Given the description of an element on the screen output the (x, y) to click on. 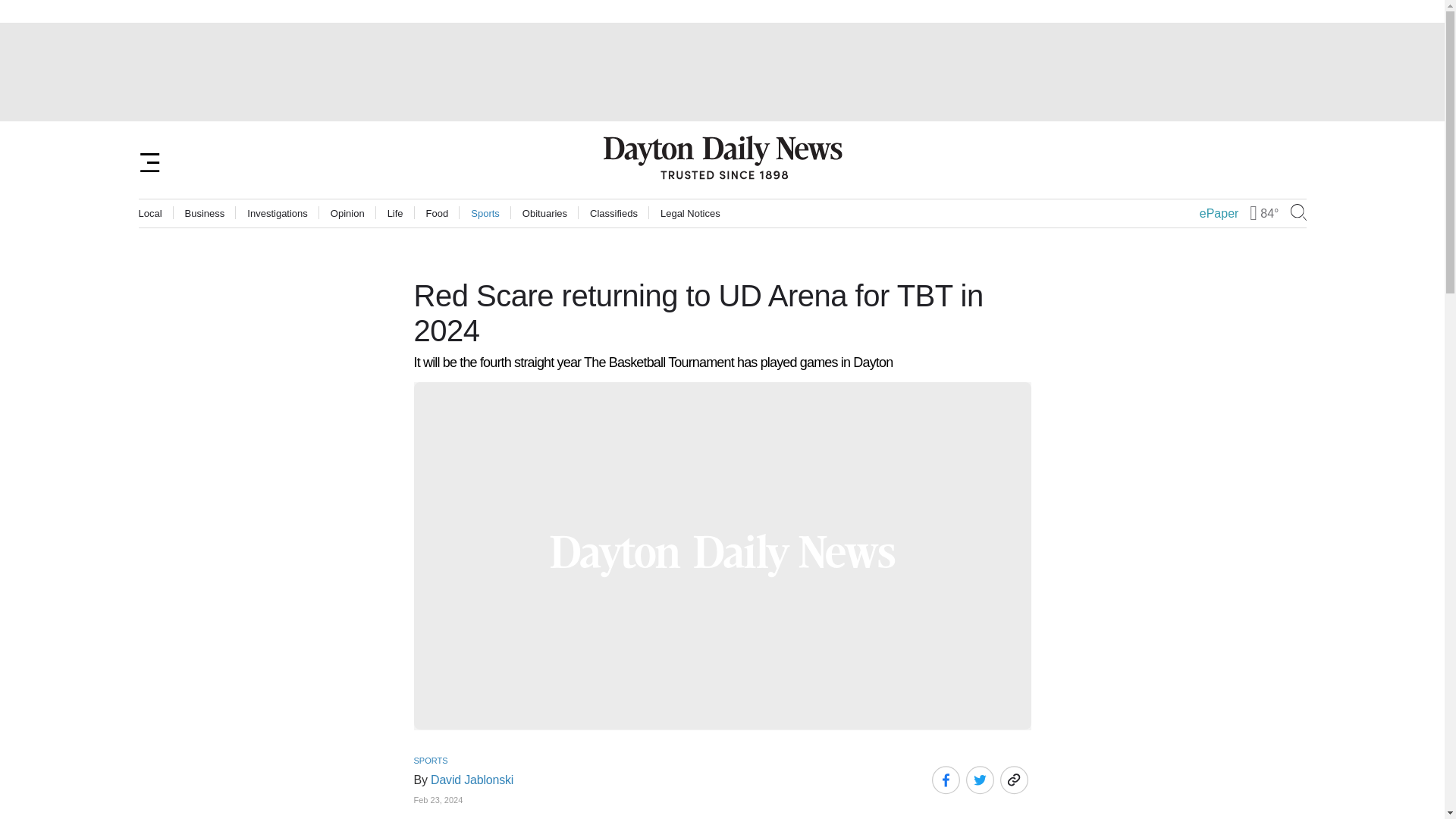
ePaper (1219, 214)
Investigations (277, 213)
Classifieds (613, 213)
Business (204, 213)
Local (149, 213)
Obituaries (544, 213)
Opinion (347, 213)
Food (437, 213)
Legal Notices (690, 213)
